Given the description of an element on the screen output the (x, y) to click on. 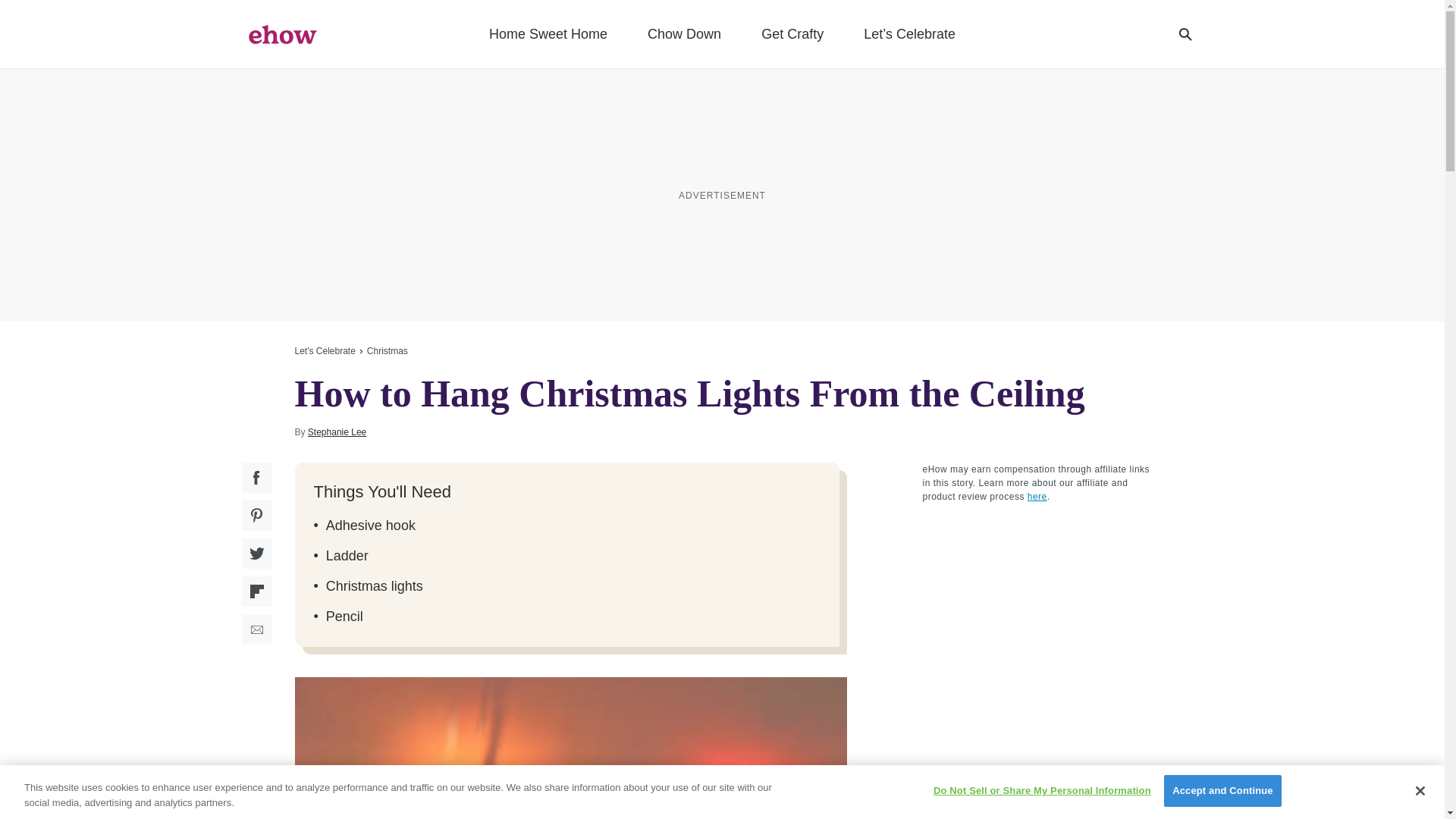
3rd party ad content (1035, 609)
3rd party ad content (721, 194)
Learn more about our affiliate and product review process (1036, 496)
